Given the description of an element on the screen output the (x, y) to click on. 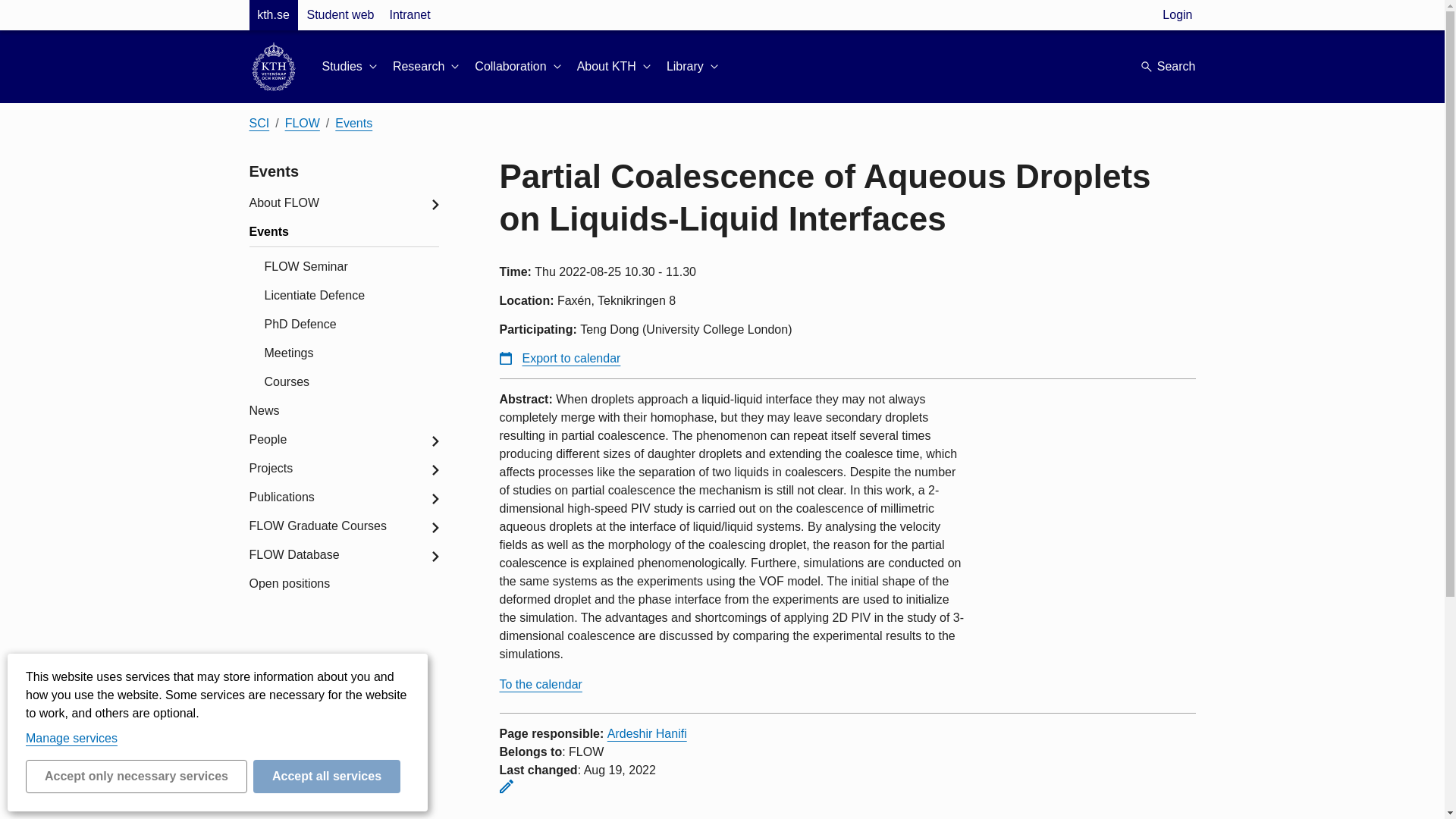
Research (428, 66)
Login (1176, 15)
Intranet (408, 15)
Studies (350, 66)
Edit this page (505, 786)
About KTH (614, 66)
Collaboration (519, 66)
Accept all services (326, 776)
Library (694, 66)
Student web (339, 15)
